Given the description of an element on the screen output the (x, y) to click on. 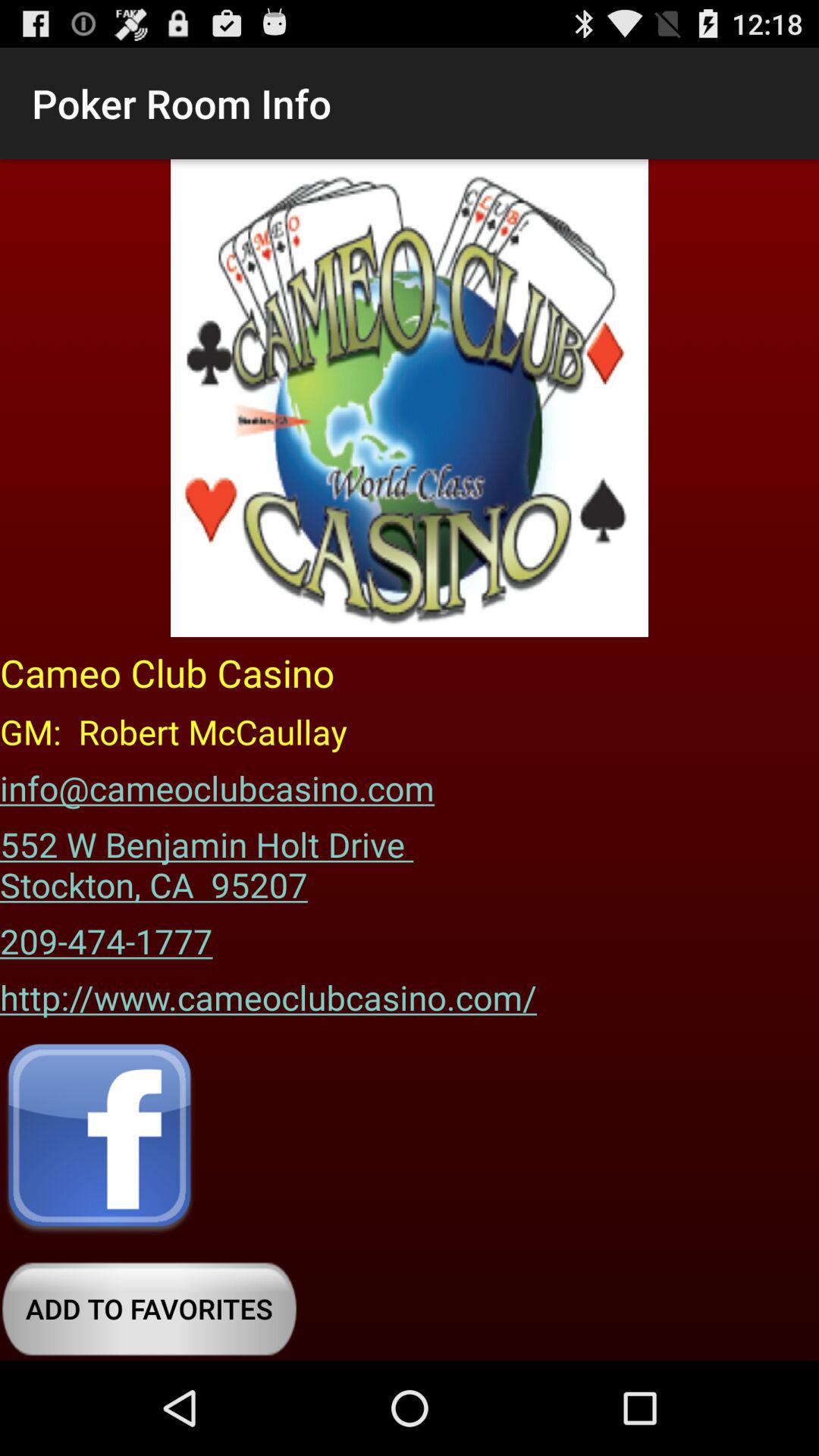
turn off app above the 209-474-1777 (212, 859)
